Given the description of an element on the screen output the (x, y) to click on. 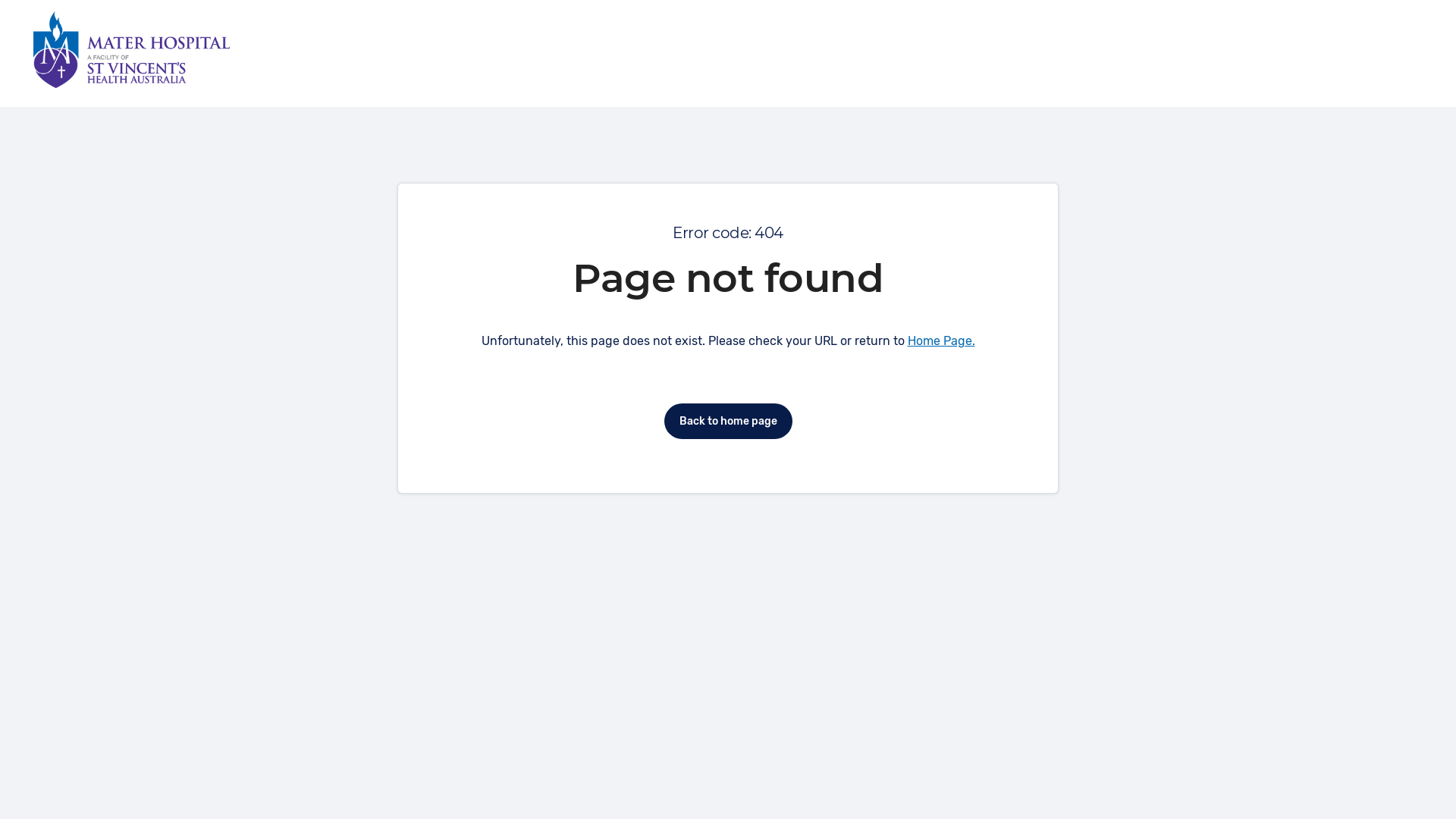
Home Page. Element type: text (940, 341)
Back to home page Element type: text (728, 421)
